Given the description of an element on the screen output the (x, y) to click on. 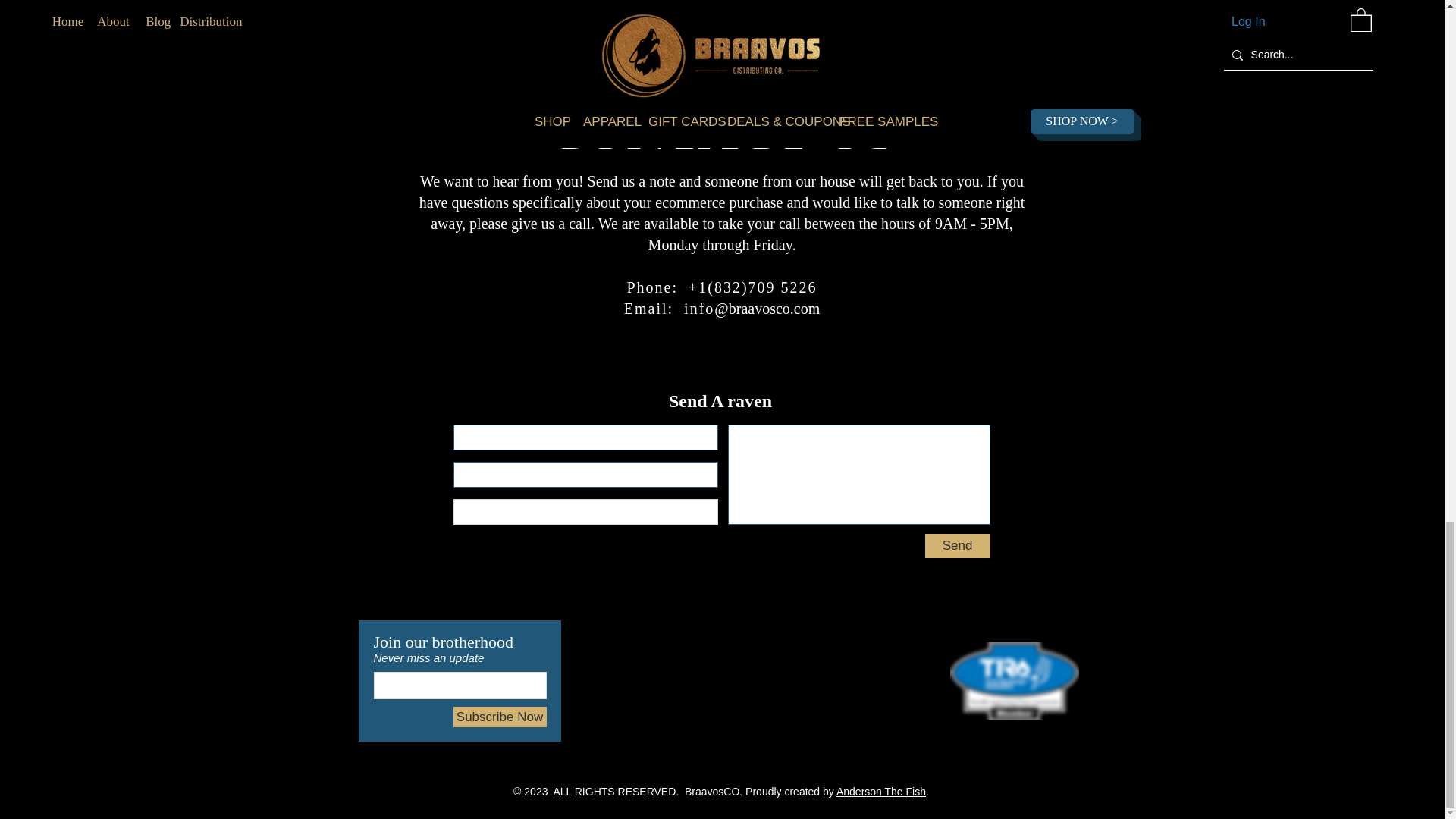
Subscribe Now (499, 716)
Anderson The Fish (880, 791)
Send (957, 545)
